Given the description of an element on the screen output the (x, y) to click on. 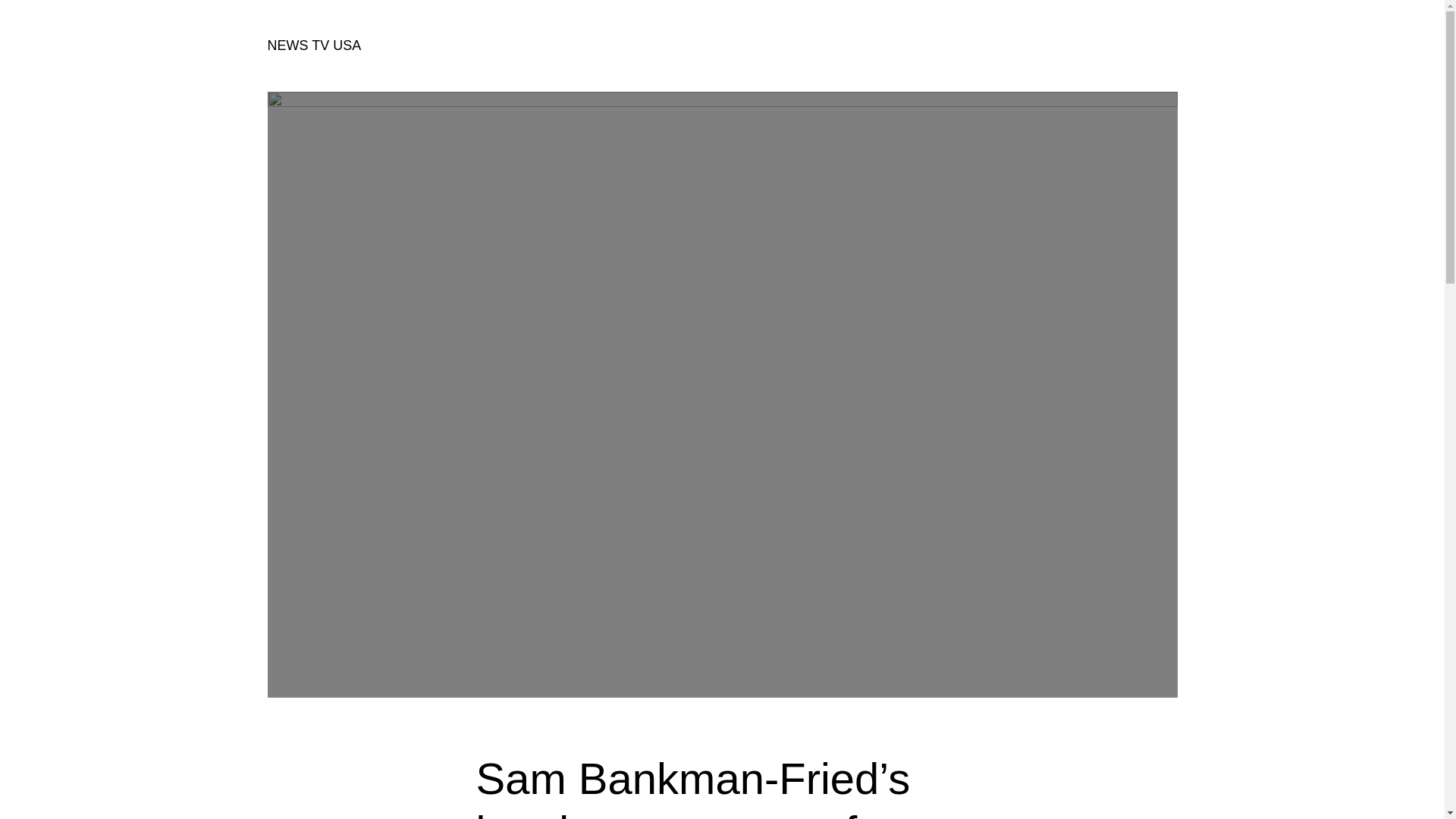
NEWS TV USA (313, 45)
